Given the description of an element on the screen output the (x, y) to click on. 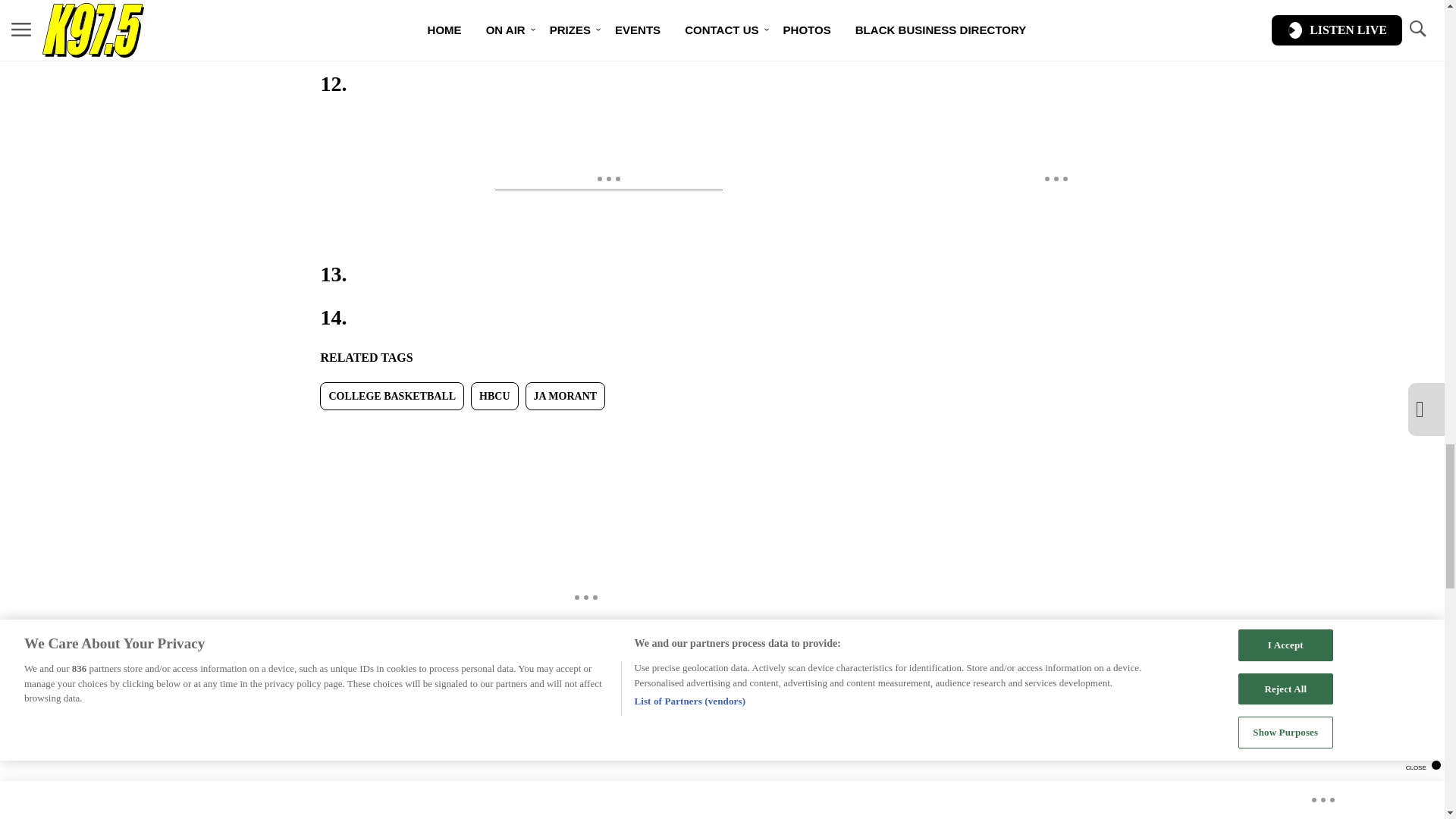
HBCU (494, 396)
JA MORANT (565, 396)
Vuukle Comments Widget (585, 780)
Vuukle Sharebar Widget (585, 434)
COLLEGE BASKETBALL (392, 396)
